Given the description of an element on the screen output the (x, y) to click on. 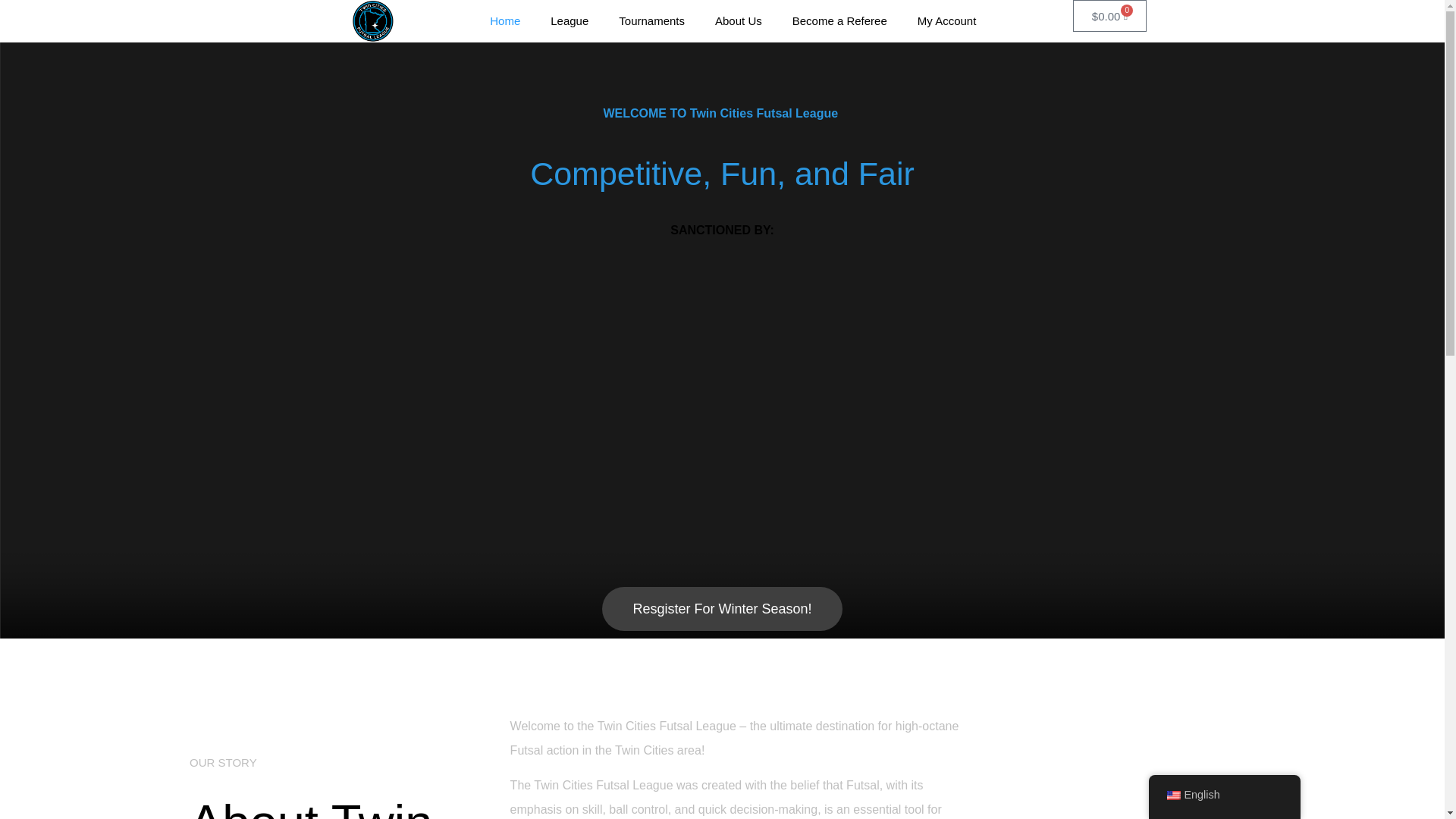
My Account (946, 21)
Become a Referee (839, 21)
League (569, 21)
English (1224, 795)
Tournaments (652, 21)
Home (504, 21)
About Us (738, 21)
Resgister For Winter Season! (721, 608)
English (1172, 795)
